Given the description of an element on the screen output the (x, y) to click on. 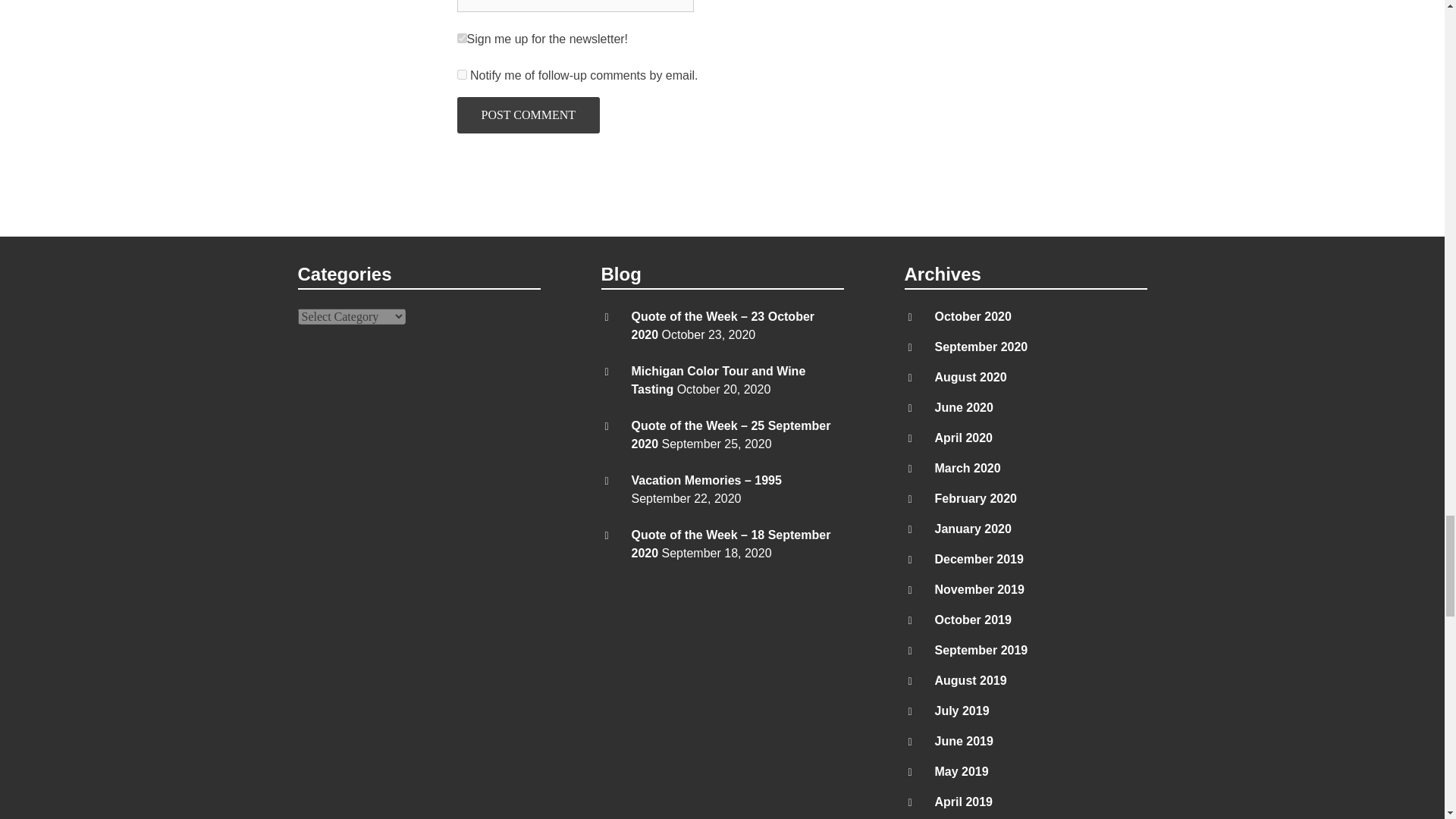
subscribe (461, 74)
1 (461, 38)
Post Comment (528, 115)
